Given the description of an element on the screen output the (x, y) to click on. 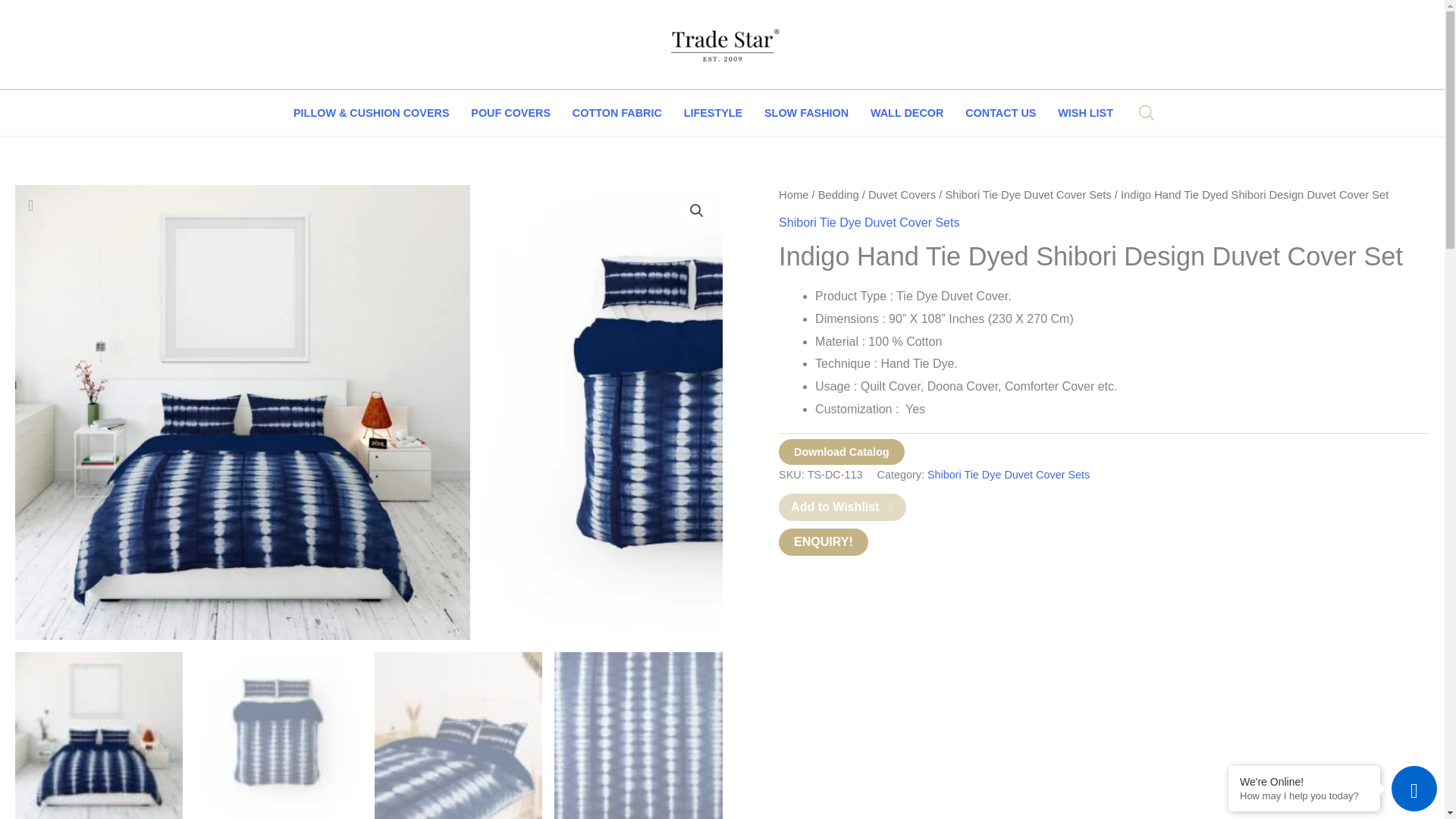
COTTON FABRIC (616, 112)
Indigo Hand Tie Dyed Shibori Design Duvet Cover Set (822, 542)
POUF COVERS (511, 112)
Trade Star Exports Logo Luxe Trade Star Exports (722, 44)
